Given the description of an element on the screen output the (x, y) to click on. 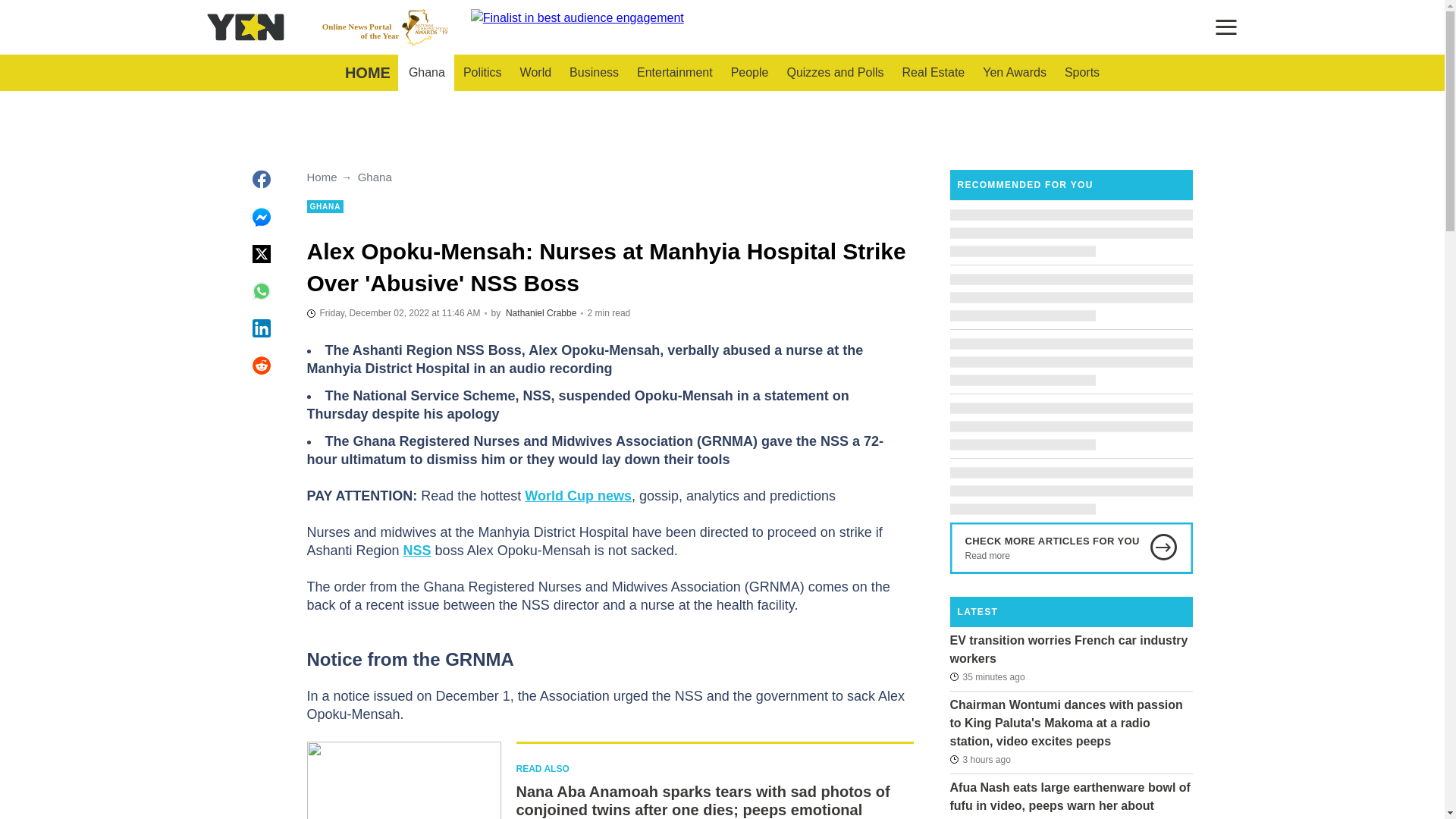
2024-08-03T23:46:02Z (979, 760)
Sports (1081, 72)
2024-08-04T02:57:05Z (987, 676)
2022-12-02T11:46:23Z (392, 312)
Yen Awards (1014, 72)
Real Estate (933, 72)
World (535, 72)
Author page (540, 312)
HOME (367, 72)
Entertainment (384, 27)
Quizzes and Polls (674, 72)
Business (834, 72)
People (593, 72)
Politics (749, 72)
